Given the description of an element on the screen output the (x, y) to click on. 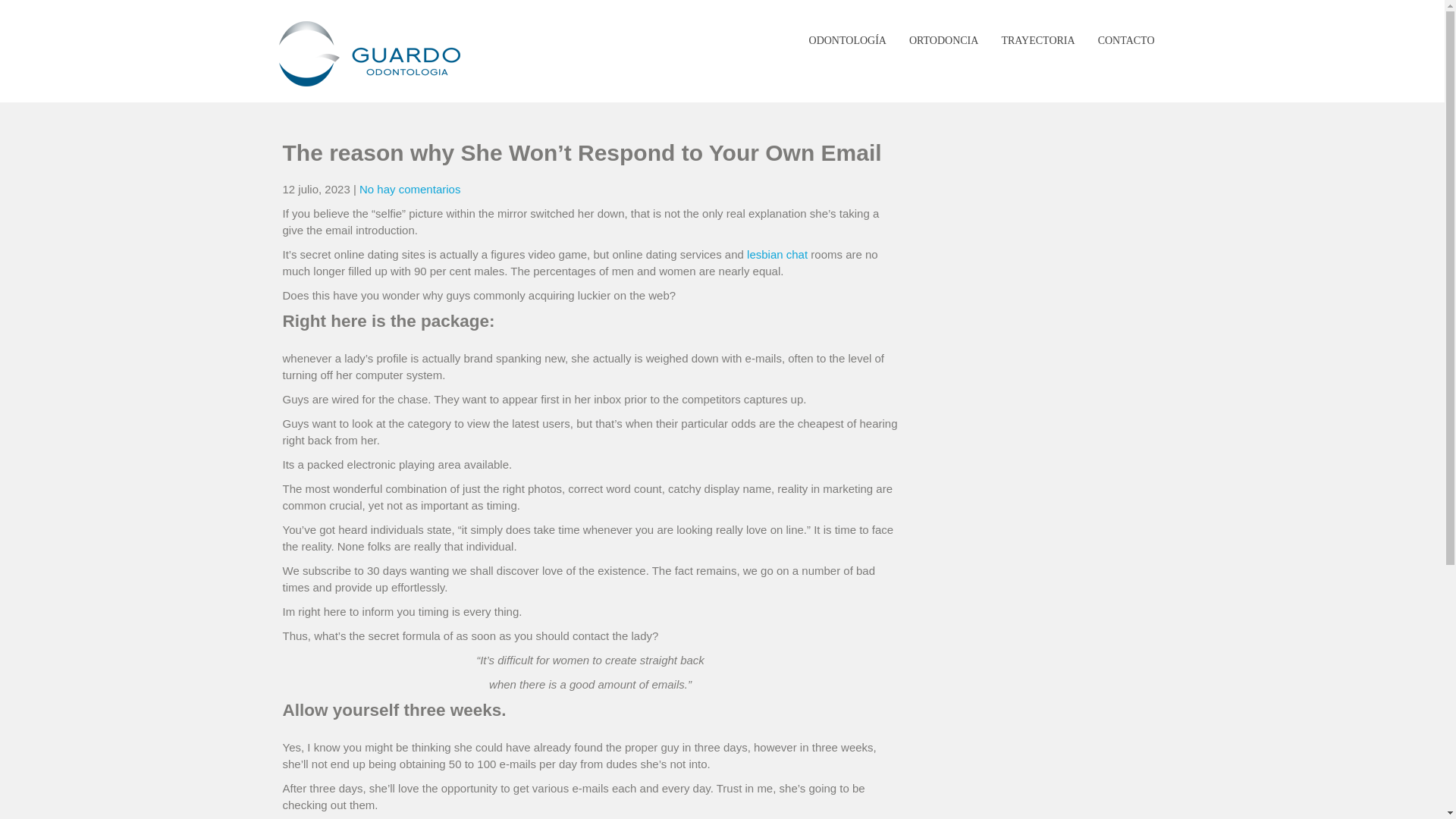
No hay comentarios (409, 188)
CONTACTO (1125, 40)
ORTODONCIA (943, 40)
TRAYECTORIA (1036, 40)
lesbian chat (777, 254)
